Given the description of an element on the screen output the (x, y) to click on. 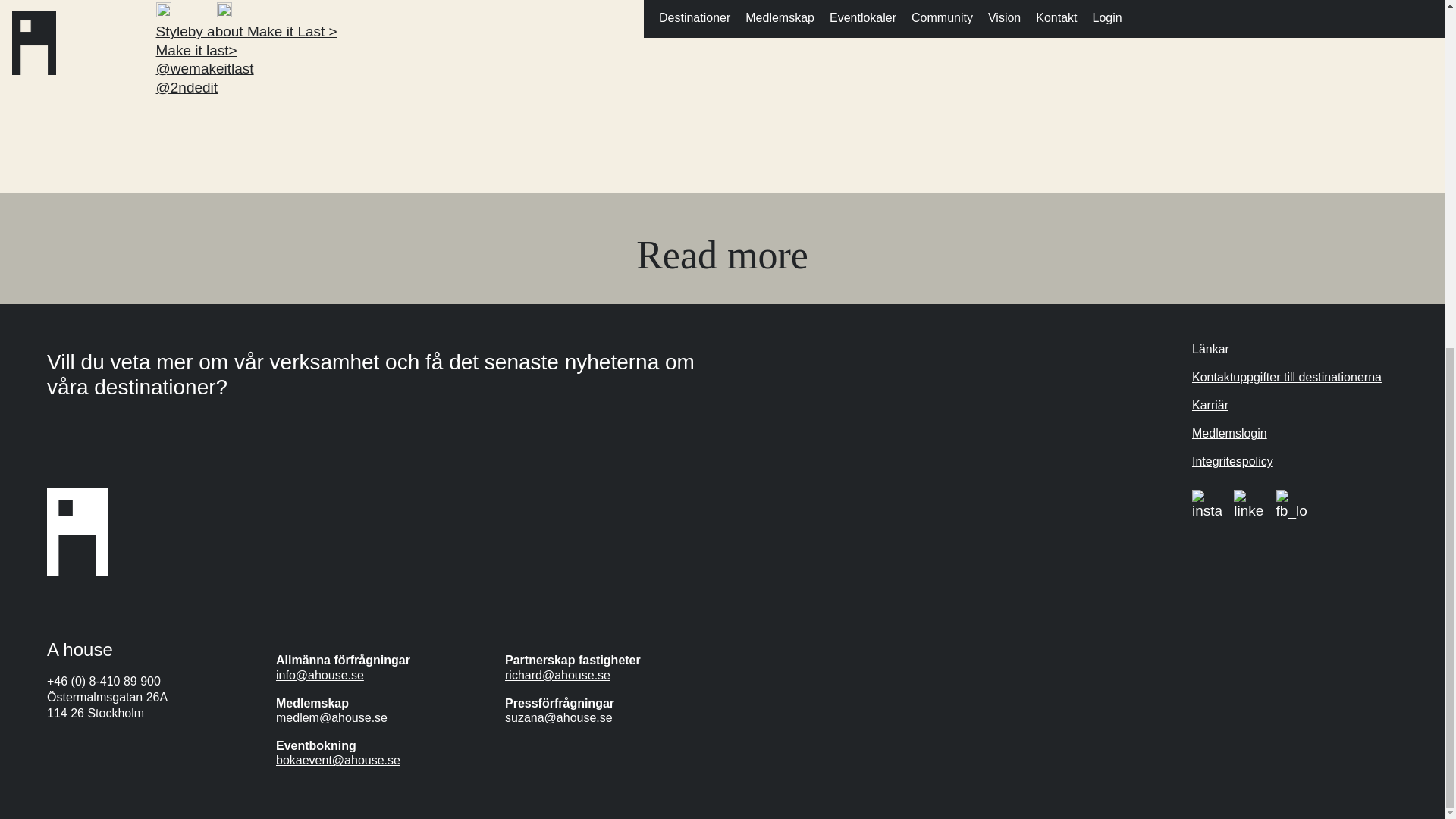
Medlemslogin (1229, 432)
Integritespolicy (1232, 461)
Kontaktuppgifter till destinationerna (1286, 377)
